Given the description of an element on the screen output the (x, y) to click on. 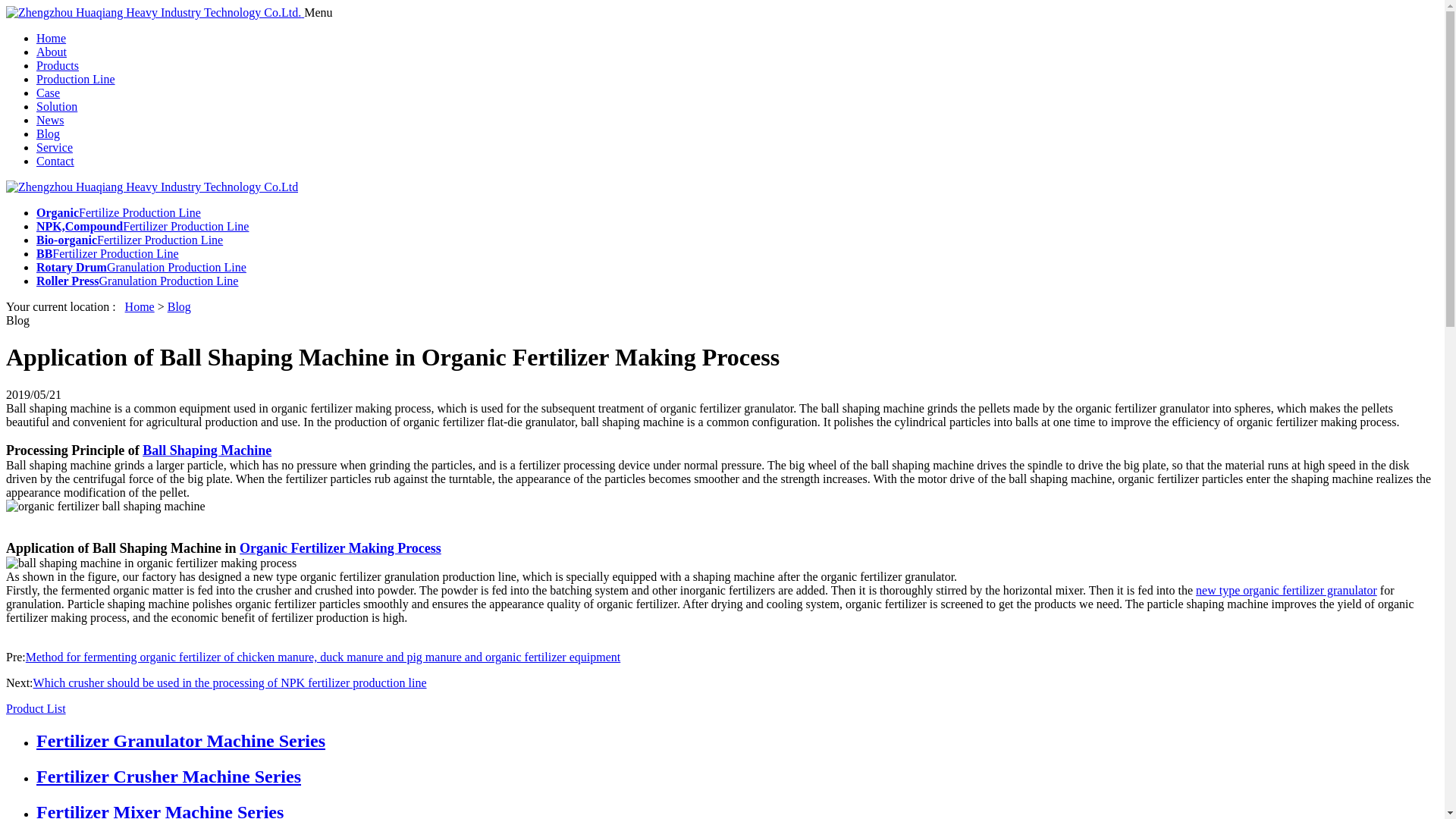
Menu (317, 11)
Blog (178, 306)
BB Fertilizer Production Line (107, 253)
NPK,Compound Fertilizer Production Line (142, 226)
Rotary DrumGranulation Production Line (141, 267)
News (50, 119)
Industries (75, 78)
BBFertilizer Production Line (107, 253)
Solution (56, 106)
Solution (56, 106)
